Given the description of an element on the screen output the (x, y) to click on. 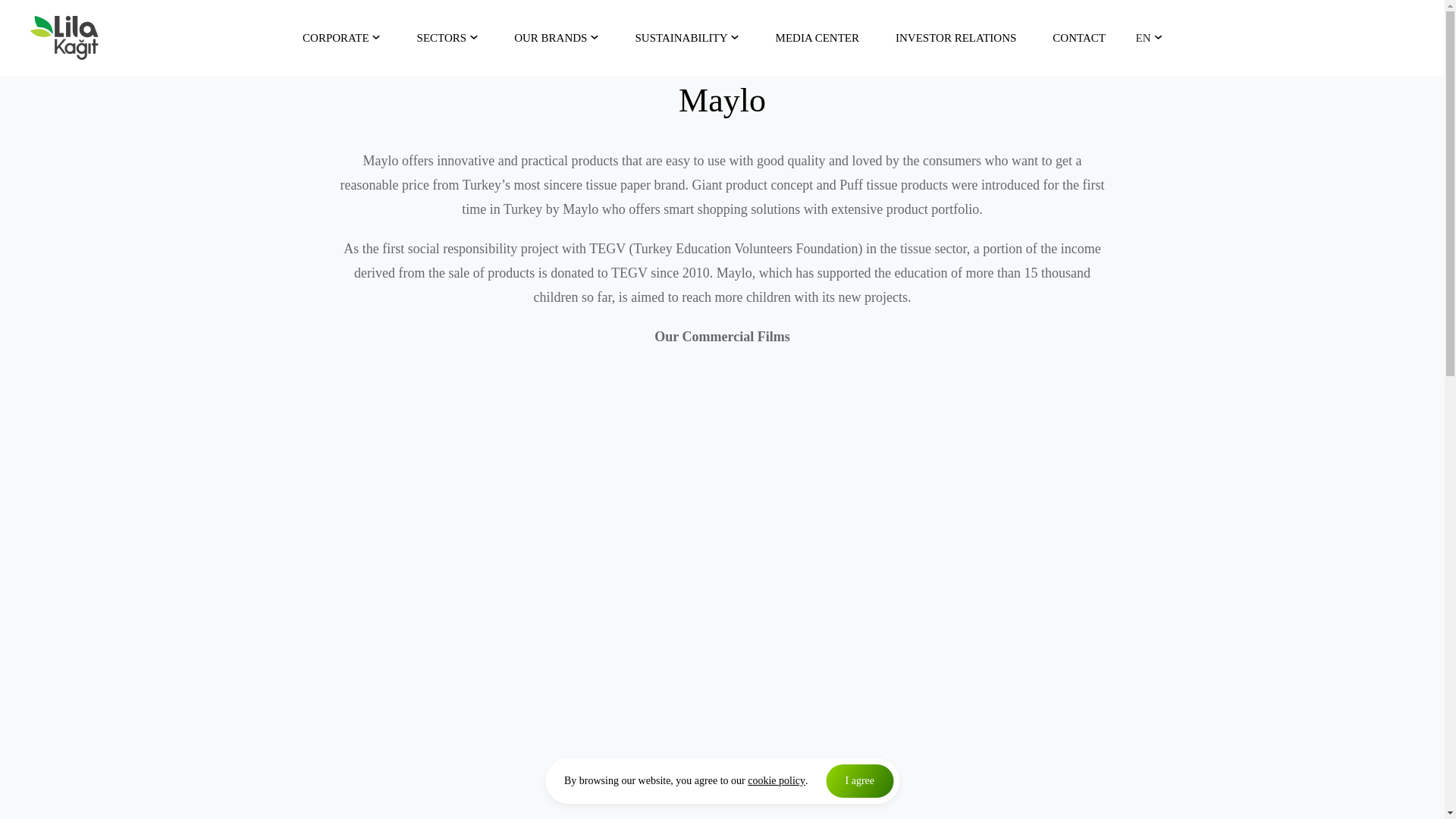
CONTACT (1078, 37)
YouTube video player (519, 712)
SECTORS (447, 37)
YouTube video player (519, 478)
SUSTAINABILITY (686, 37)
CORPORATE (341, 37)
YouTube video player (923, 712)
MEDIA CENTER (817, 37)
OUR BRANDS (555, 37)
INVESTOR RELATIONS (955, 37)
